Given the description of an element on the screen output the (x, y) to click on. 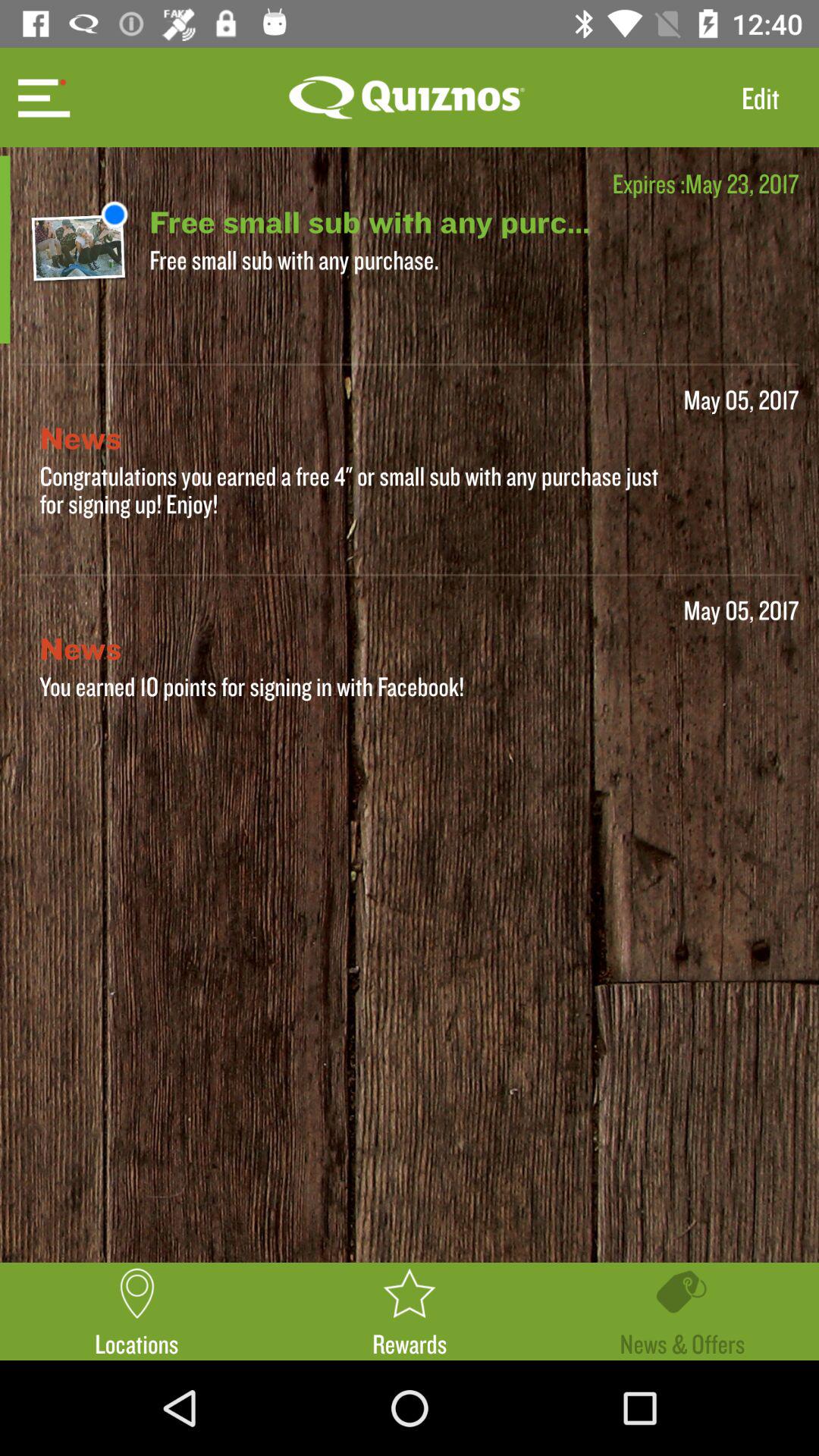
menu paga (41, 97)
